Given the description of an element on the screen output the (x, y) to click on. 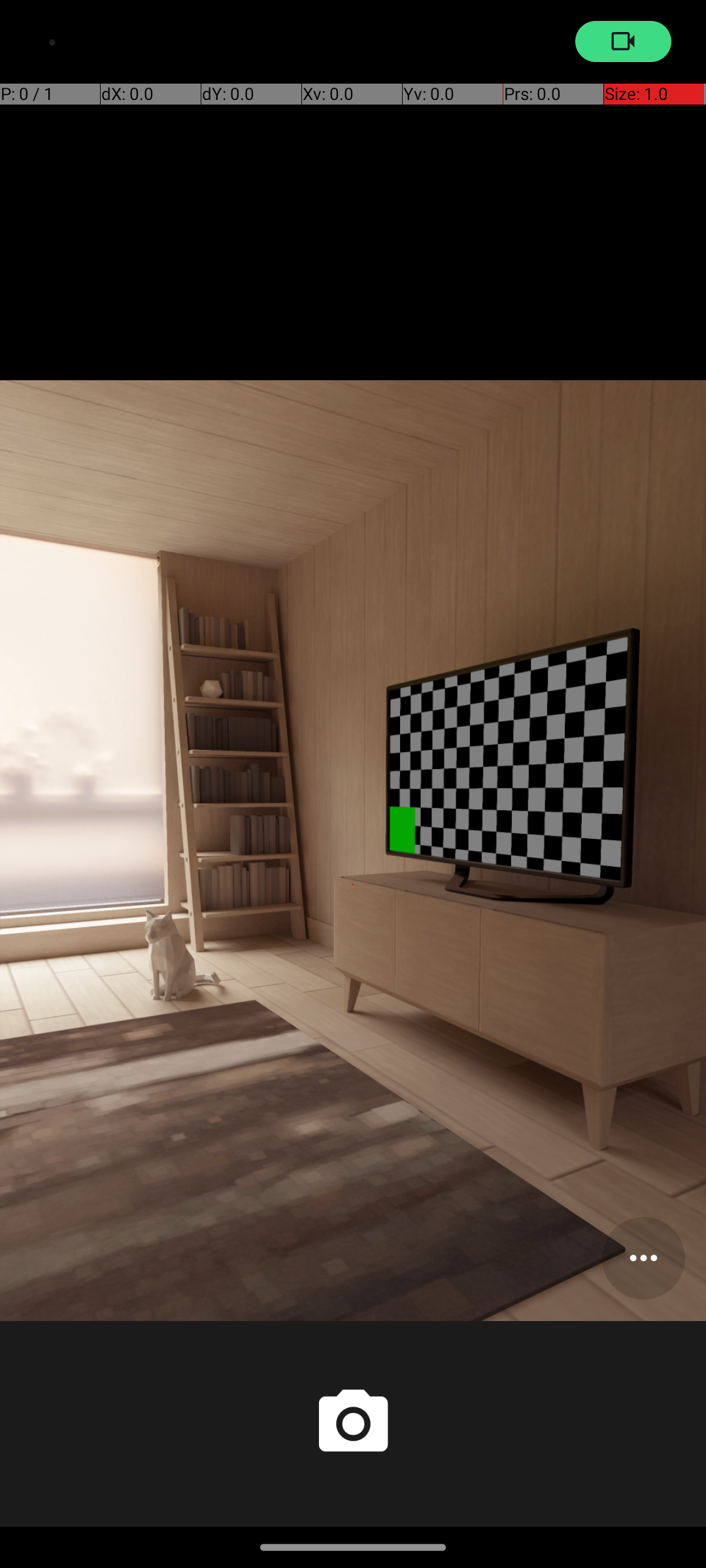
Applications are using your camera. Element type: android.widget.FrameLayout (623, 41)
